Given the description of an element on the screen output the (x, y) to click on. 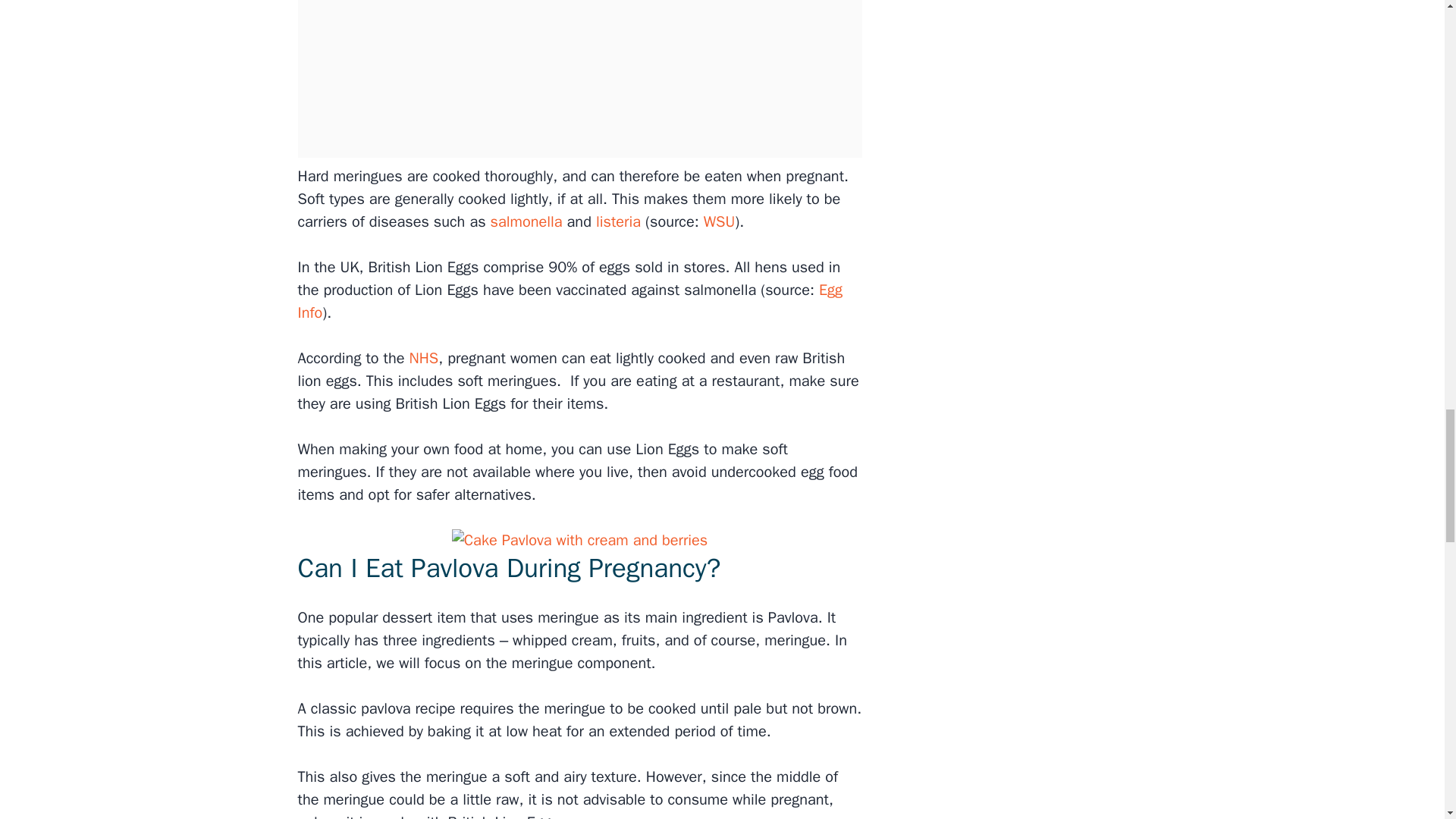
listeria (617, 221)
Egg Info (570, 301)
salmonella (526, 221)
NHS (424, 357)
WSU (719, 221)
